Given the description of an element on the screen output the (x, y) to click on. 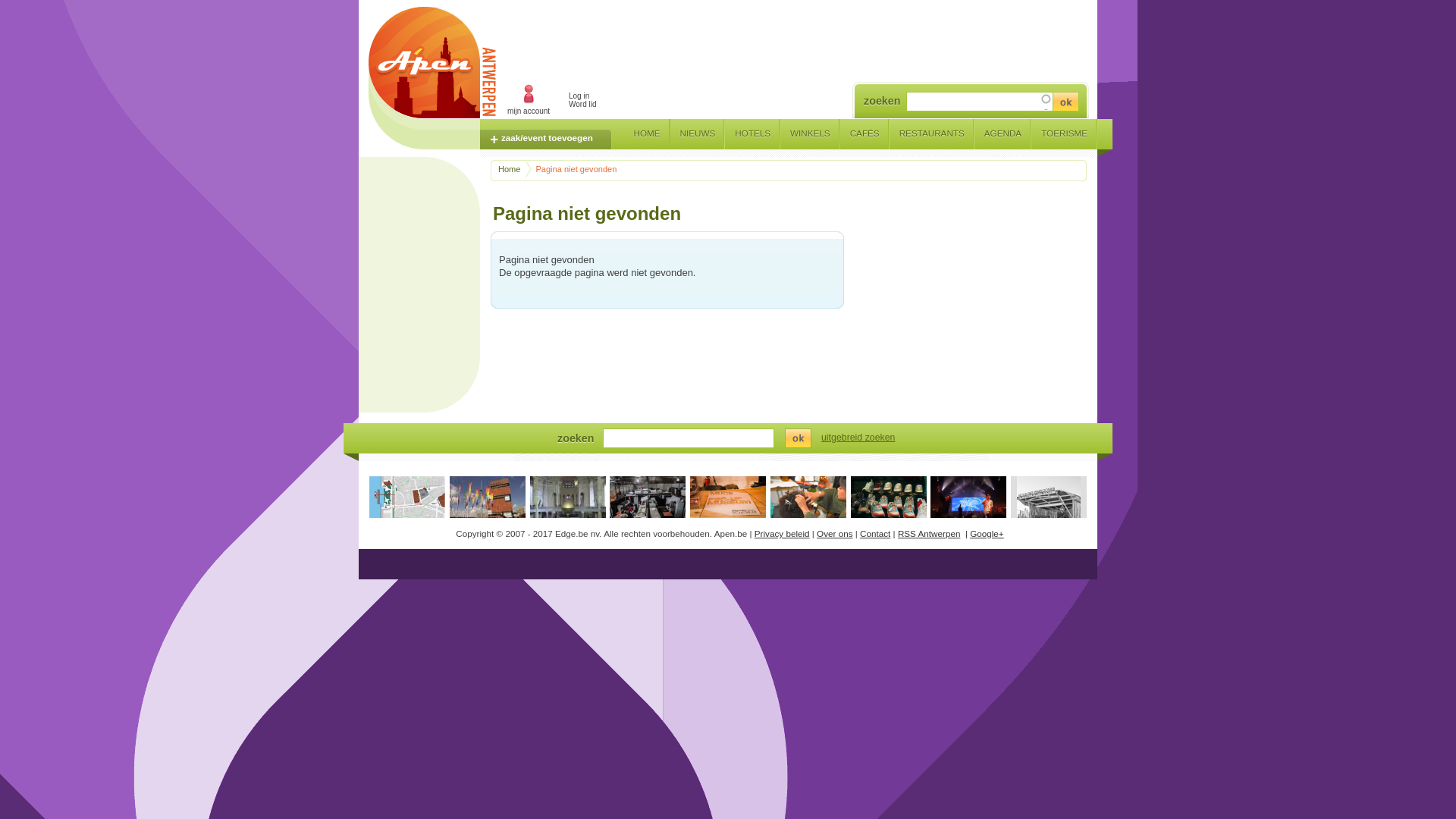
HOTELS Element type: text (752, 132)
Zoeken Element type: text (1064, 99)
In beeld: Blackwave in De Roma Element type: hover (968, 501)
RSS Antwerpen Element type: text (928, 533)
uitgebreid zoeken Element type: text (857, 437)
Home Element type: text (512, 168)
AGENDA Element type: text (1002, 132)
Word lid Element type: text (582, 104)
RESTAURANTS Element type: text (931, 132)
HOME Element type: text (646, 132)
In beeld: Een dag in het opvangcentrum voor asielzoekers Element type: hover (647, 501)
Privacy beleid Element type: text (781, 533)
Advertisement Element type: hover (1150, 420)
Sint-Laurentiuskerk - Antwerpen.jpg Element type: hover (567, 504)
Geef de woorden op waarnaar u wilt zoeken. Element type: hover (686, 437)
Zoeken Element type: text (797, 437)
In beeld: Antwerp Pride 2023 Element type: hover (487, 501)
Contact Element type: text (874, 533)
Chapp de Mic Element type: hover (1048, 514)
Log in Element type: text (578, 95)
Advertisement Element type: hover (809, 41)
Over ons Element type: text (834, 533)
Plan intrede Sinterklaas in Antwerpen op 18 november 2023 Element type: hover (407, 503)
Geef de woorden op waarnaar u wilt zoeken. Element type: hover (979, 100)
Google+ Element type: text (986, 533)
Sneakerheads leven zich uit op de conventie Sneakermania Element type: hover (888, 501)
WINKELS Element type: text (810, 132)
NIEUWS Element type: text (697, 132)
TOERISME Element type: text (1064, 132)
In beeld: 'Big Hair, Big Dreams' Element type: hover (808, 501)
zaak/event toevoegen Element type: text (545, 139)
